Given the description of an element on the screen output the (x, y) to click on. 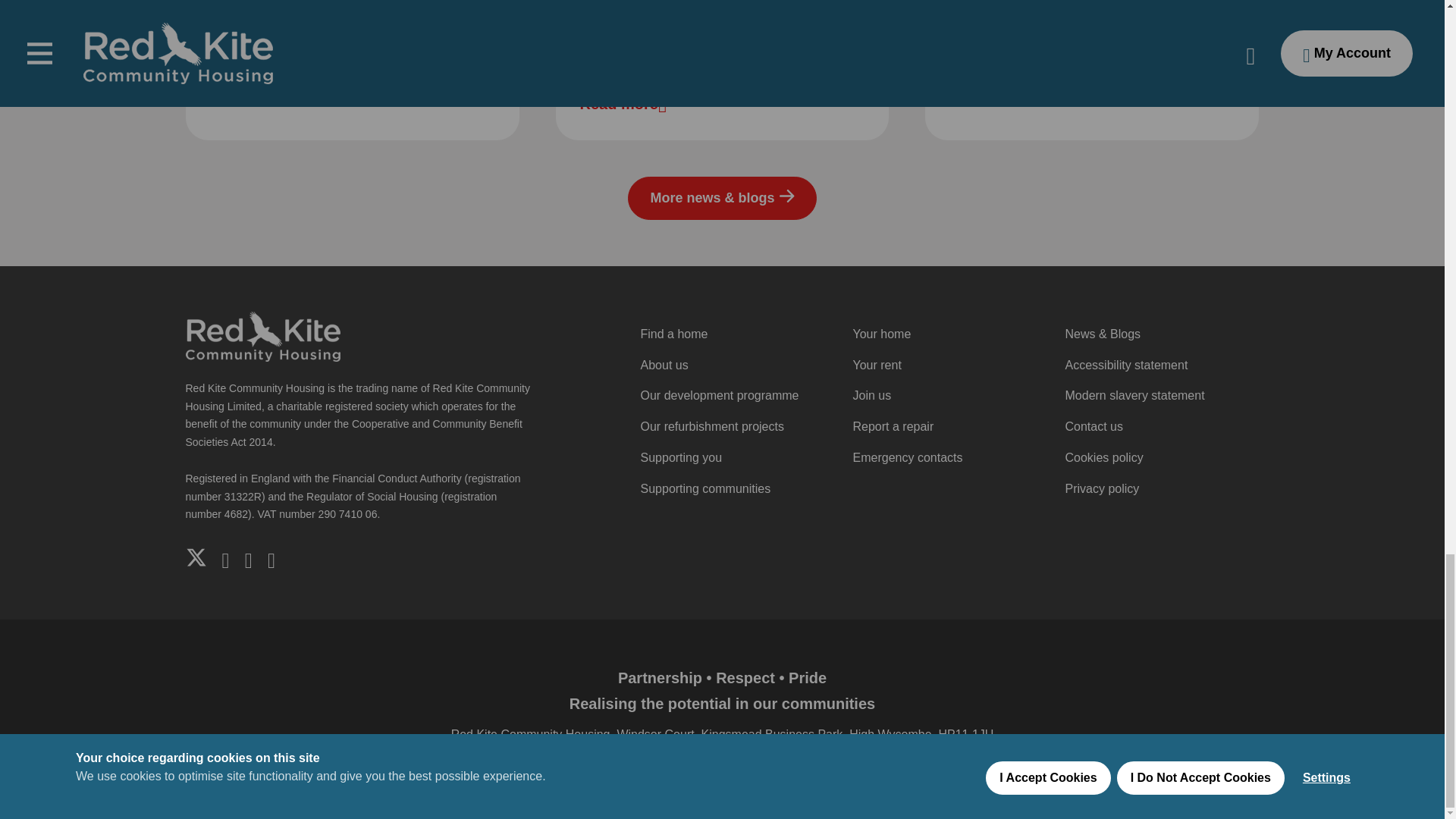
Home (261, 335)
